Given the description of an element on the screen output the (x, y) to click on. 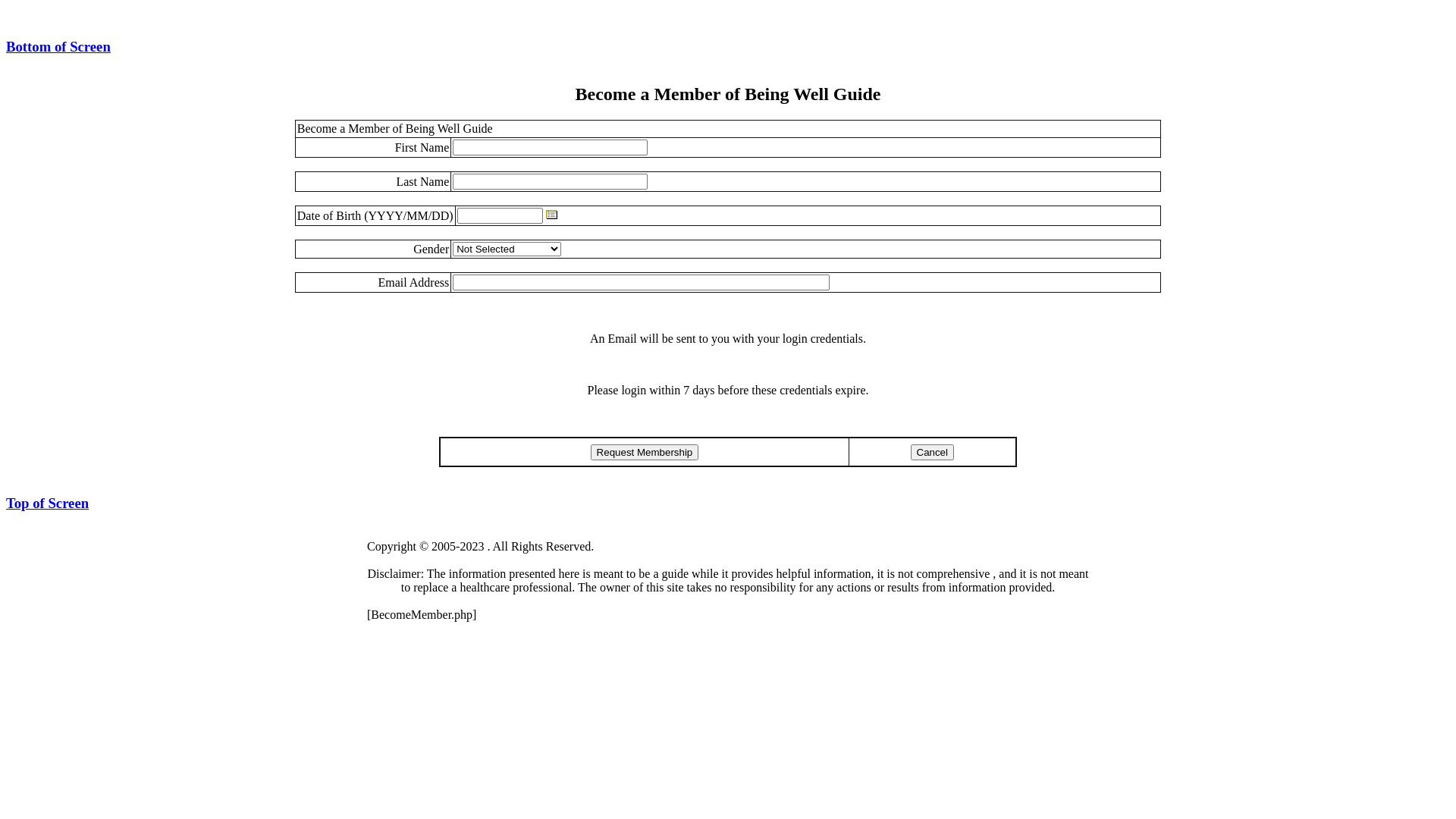
Top of Screen Element type: text (47, 503)
Bottom of Screen Element type: text (58, 46)
Request Membership Element type: text (644, 452)
Cancel Element type: text (931, 452)
